Given the description of an element on the screen output the (x, y) to click on. 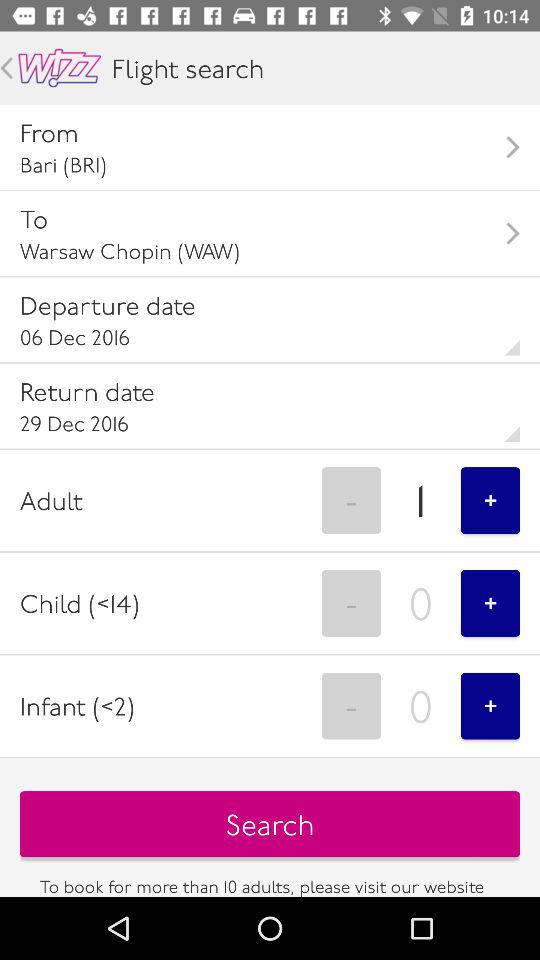
flip until - icon (351, 500)
